Given the description of an element on the screen output the (x, y) to click on. 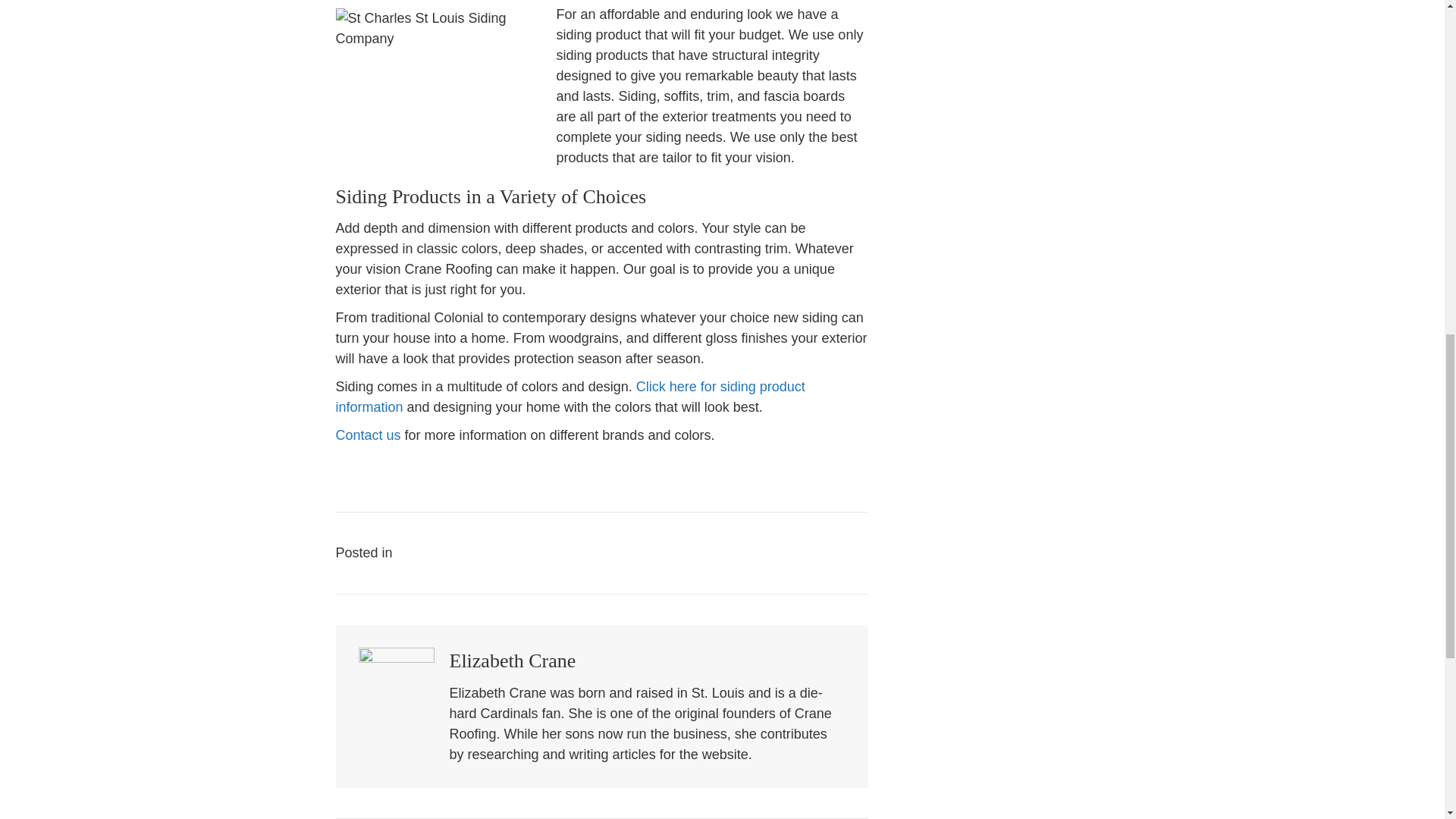
st-charles-st-louis-siding-company (437, 74)
Click here for siding product information (569, 396)
Contact us (367, 435)
